Given the description of an element on the screen output the (x, y) to click on. 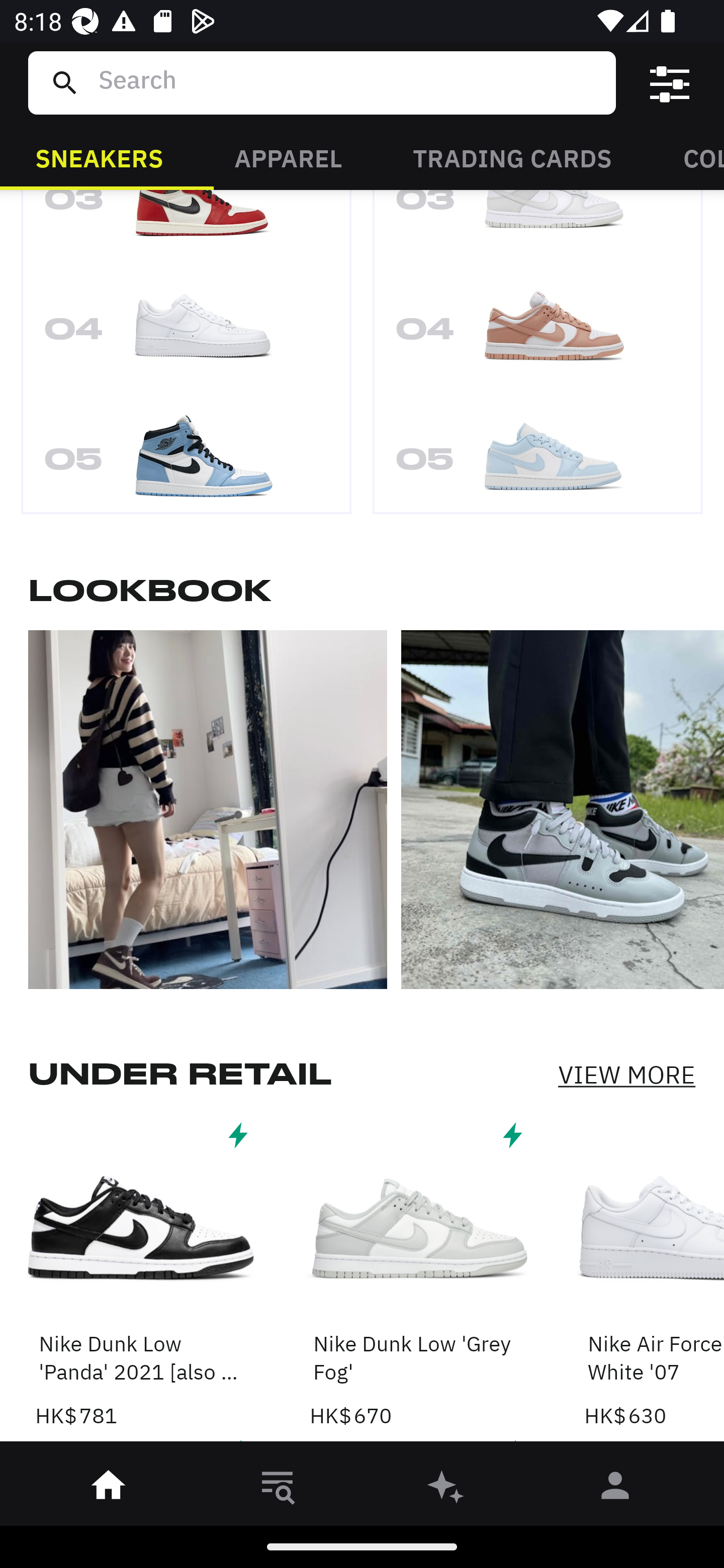
Search (349, 82)
 (669, 82)
SNEAKERS (99, 156)
APPAREL (287, 156)
TRADING CARDS (512, 156)
03 (186, 229)
03 (538, 229)
04 (186, 334)
04 (538, 334)
05 (186, 455)
05 (538, 455)
VIEW MORE (626, 1073)
 Nike Dunk Low 'Grey Fog' HK$ 670 (414, 1272)
Nike Air Force 1 Low White '07 HK$ 630 (654, 1272)
󰋜 (108, 1488)
󱎸 (277, 1488)
󰫢 (446, 1488)
󰀄 (615, 1488)
